Given the description of an element on the screen output the (x, y) to click on. 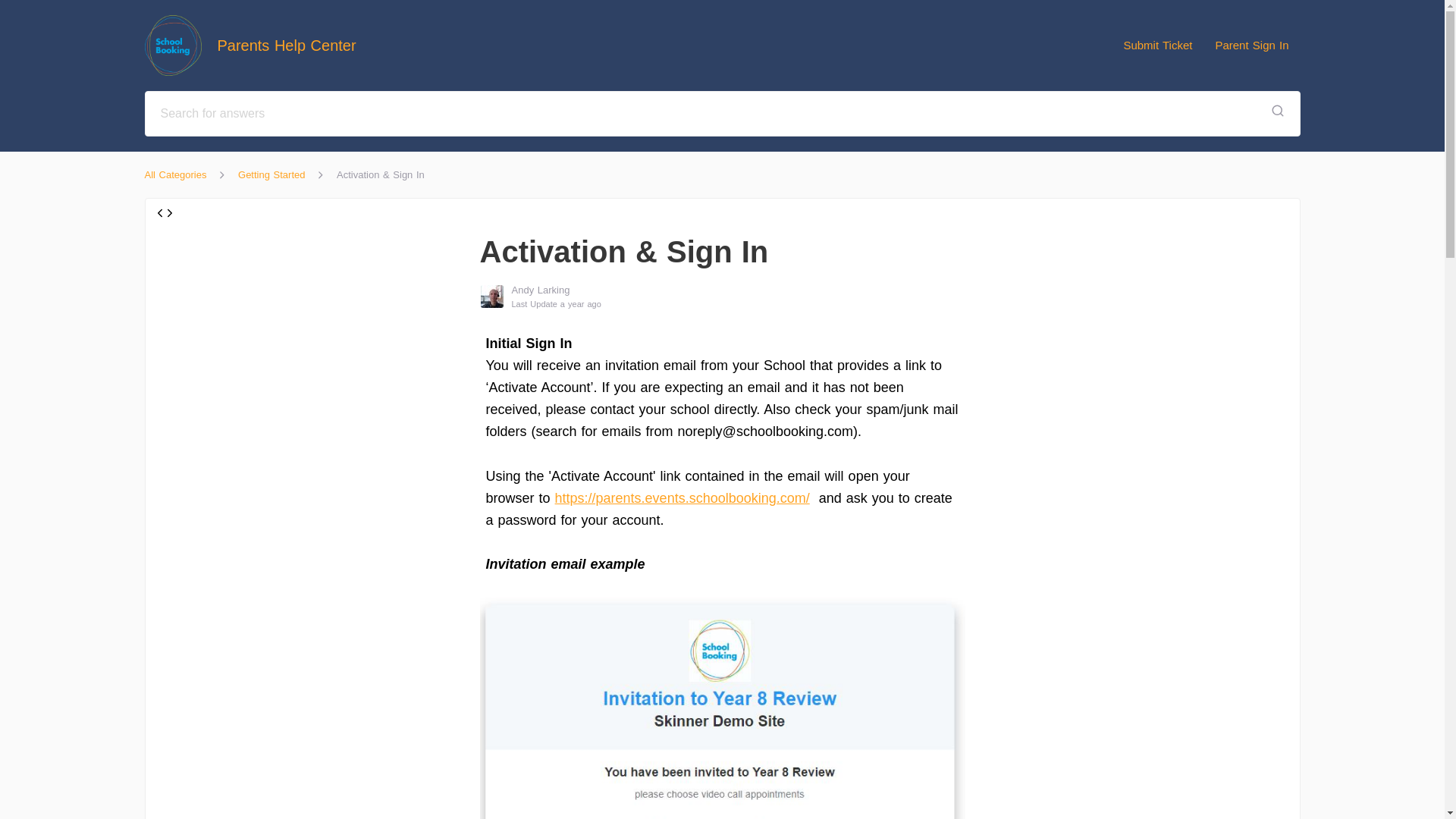
All Categories (175, 174)
Parents Help Center (257, 45)
Parent Sign In (1252, 45)
Submit Ticket (1158, 45)
Getting Started (271, 174)
